Given the description of an element on the screen output the (x, y) to click on. 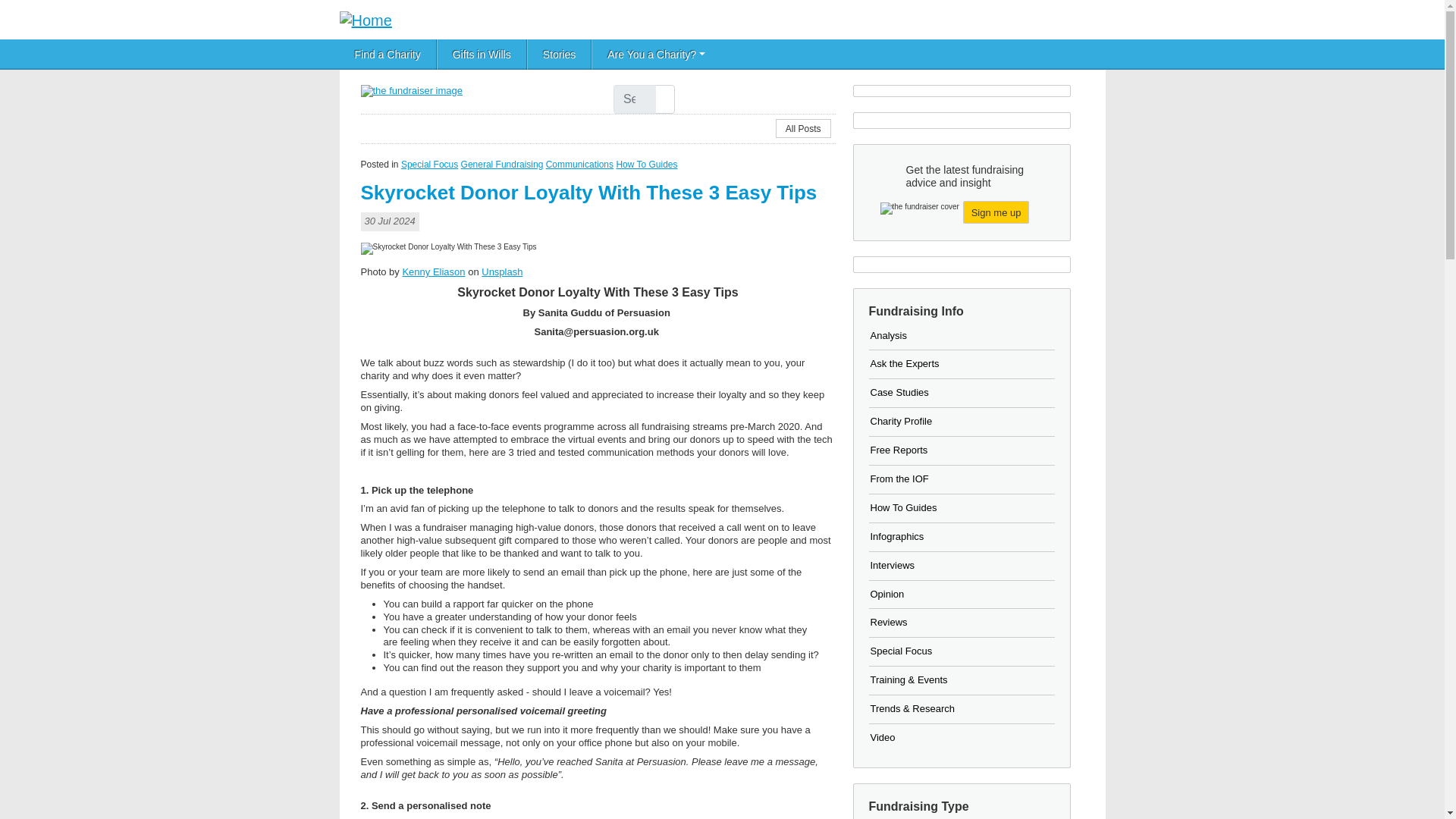
Home (371, 19)
Charity Profile (901, 420)
General Fundraising (502, 163)
Analysis (888, 334)
Unsplash (501, 271)
Case Studies (899, 392)
the fundraiser (412, 90)
All Posts (803, 128)
Case Studies (899, 392)
Analysis (888, 334)
Ask the Experts (904, 363)
Ask the Experts (904, 363)
Are You a Charity? (655, 54)
Gifts in Wills (481, 54)
